Given the description of an element on the screen output the (x, y) to click on. 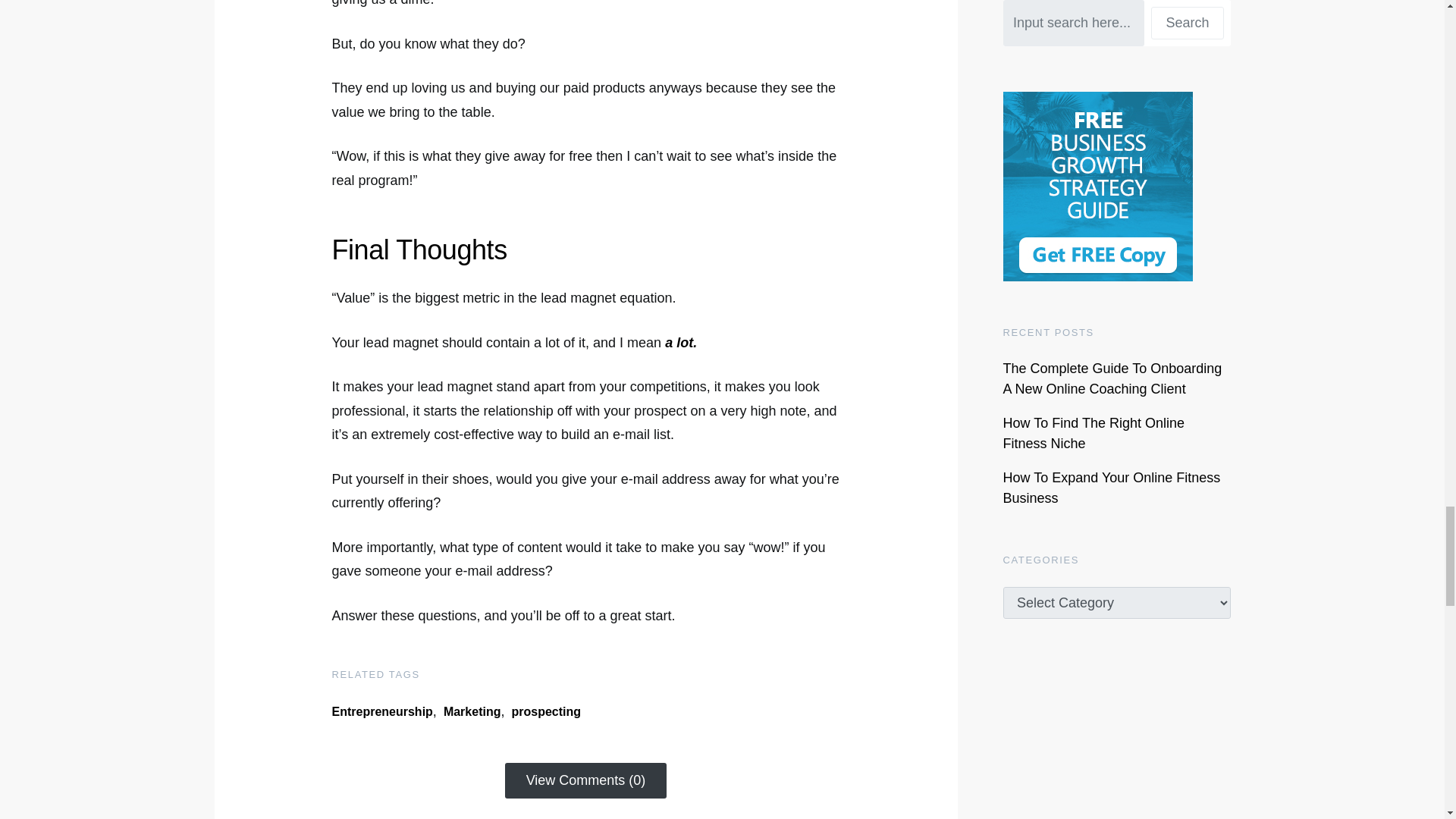
prospecting (545, 711)
Marketing (472, 711)
Entrepreneurship (381, 711)
